Given the description of an element on the screen output the (x, y) to click on. 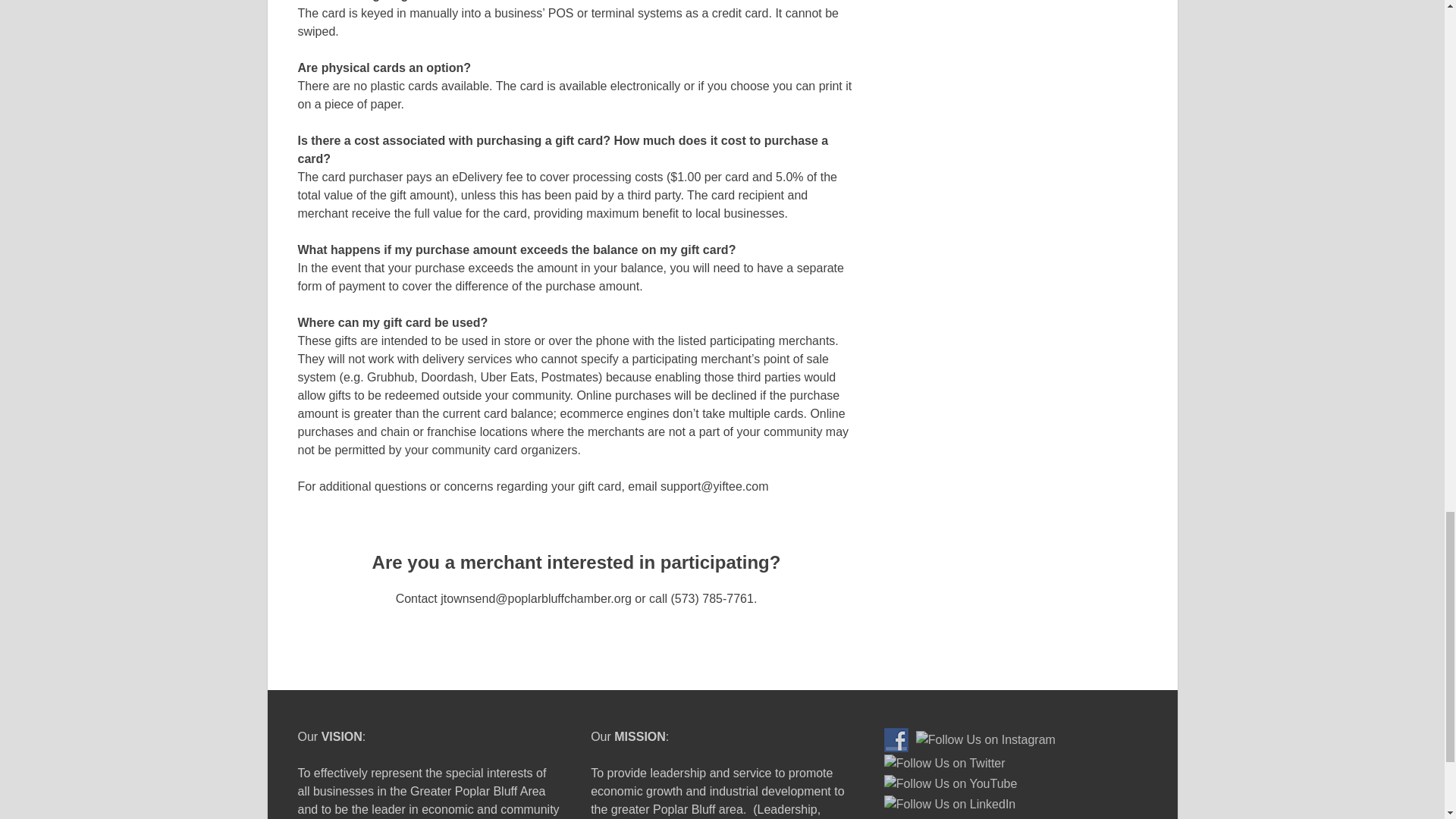
Follow Us on YouTube (950, 783)
Follow Us on LinkedIn (948, 804)
Follow Us on Facebook (895, 740)
Follow Us on Instagram (985, 740)
Follow Us on Twitter (944, 763)
